Given the description of an element on the screen output the (x, y) to click on. 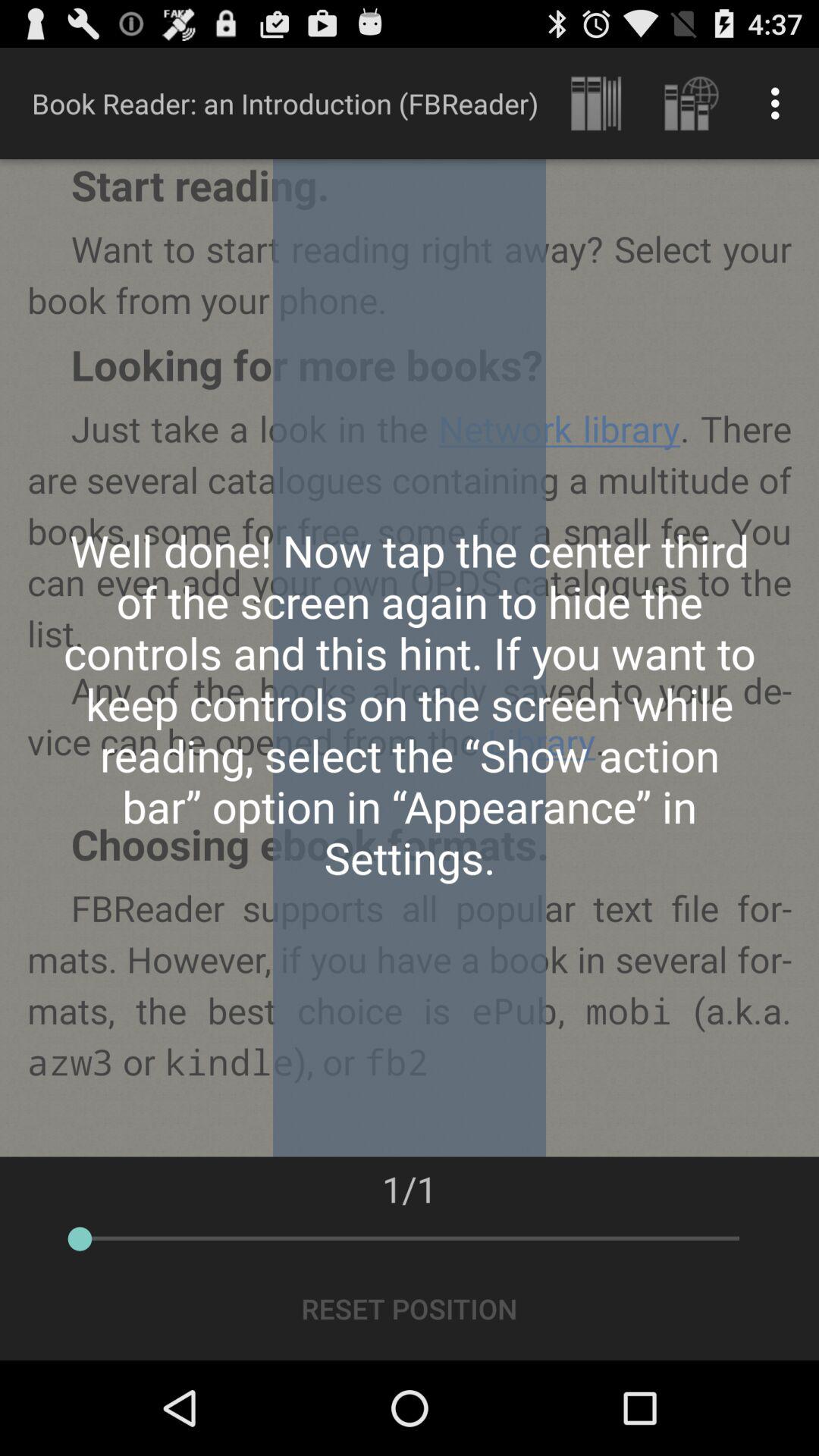
reset position (409, 1310)
